Given the description of an element on the screen output the (x, y) to click on. 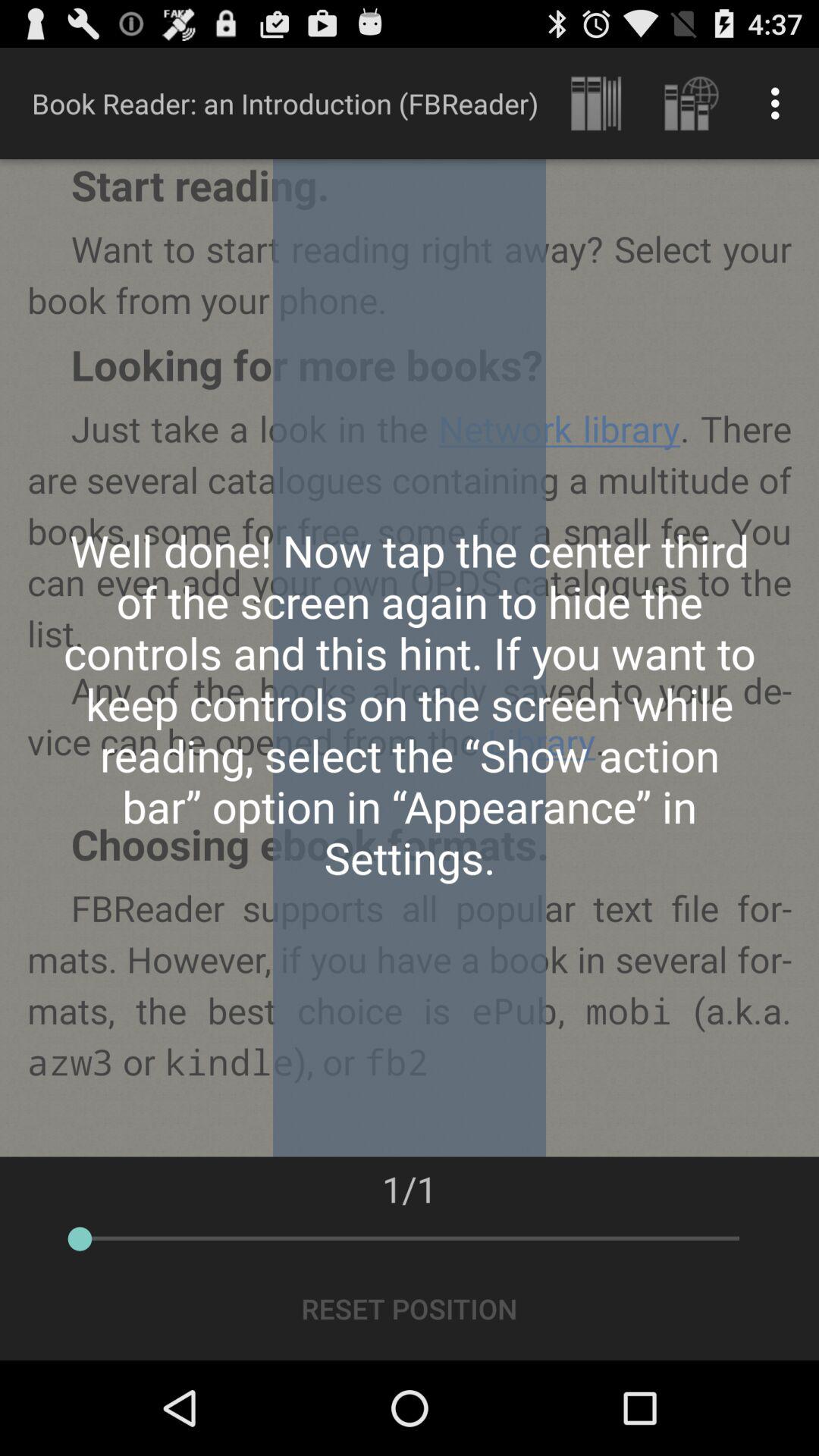
reset position (409, 1310)
